Given the description of an element on the screen output the (x, y) to click on. 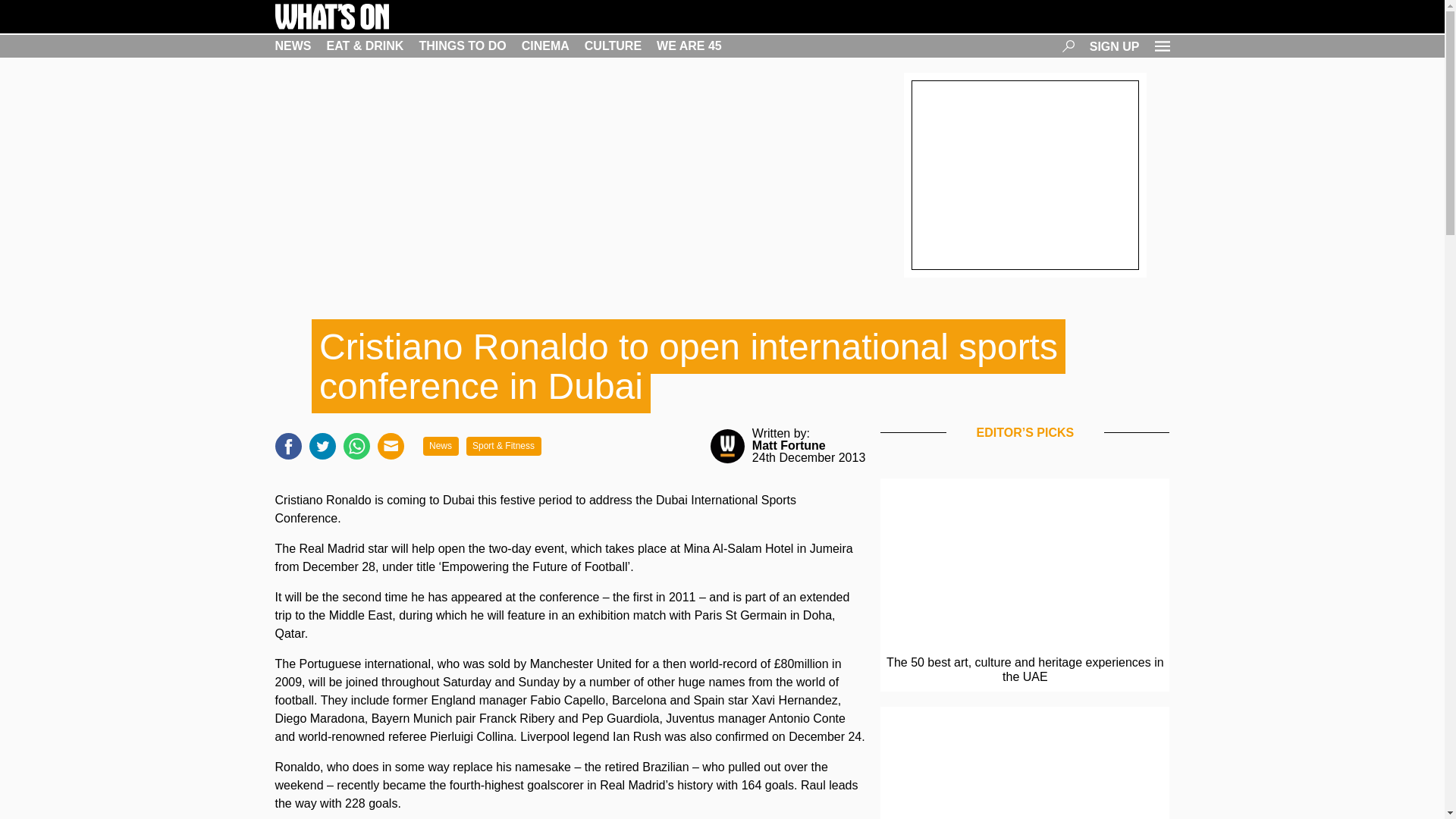
NEWS (293, 45)
WE ARE 45 (689, 45)
SIGN UP (1114, 45)
THINGS TO DO (462, 45)
CULTURE (613, 45)
CINEMA (545, 45)
